Given the description of an element on the screen output the (x, y) to click on. 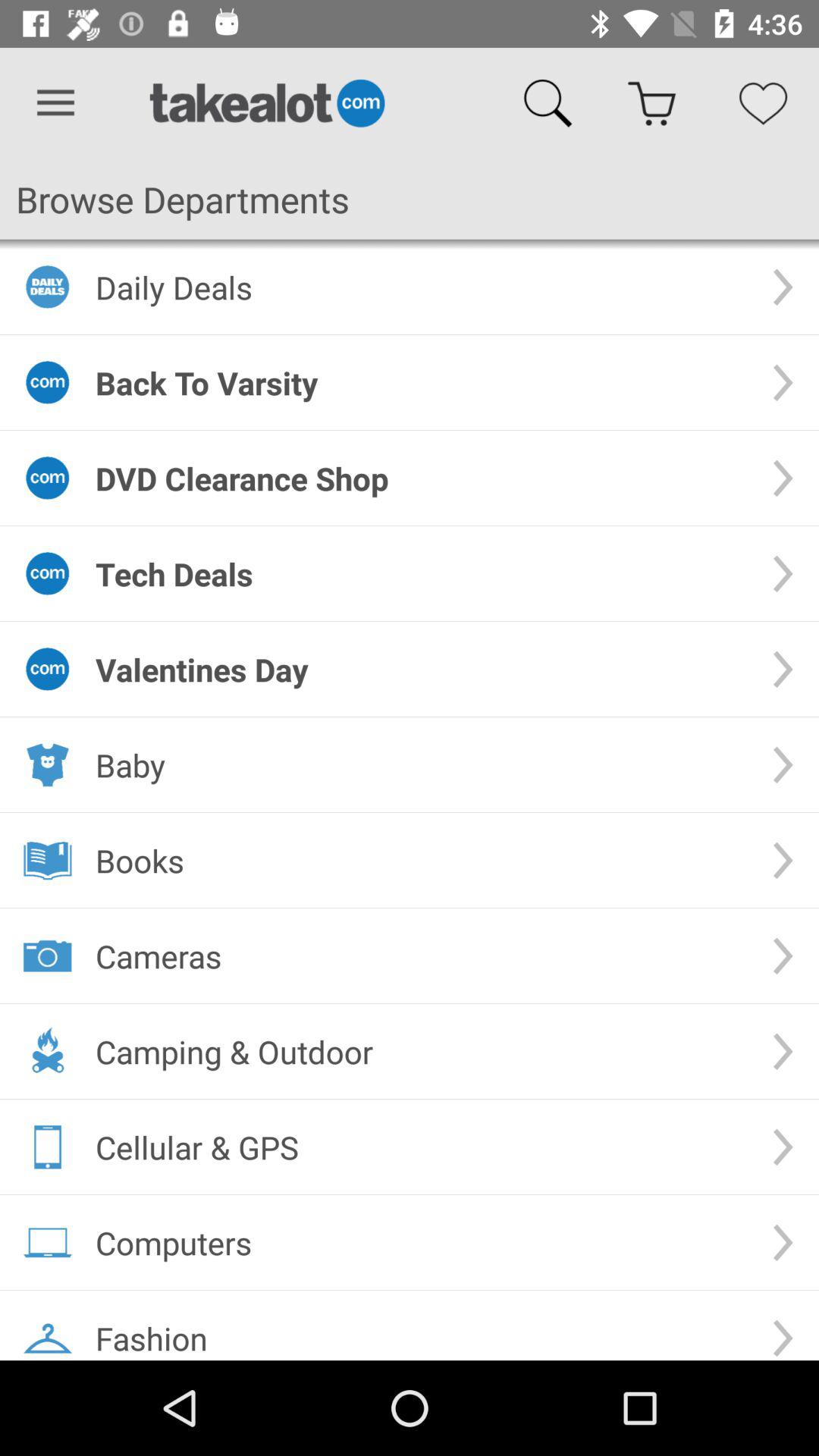
open the icon above tech deals (421, 478)
